Given the description of an element on the screen output the (x, y) to click on. 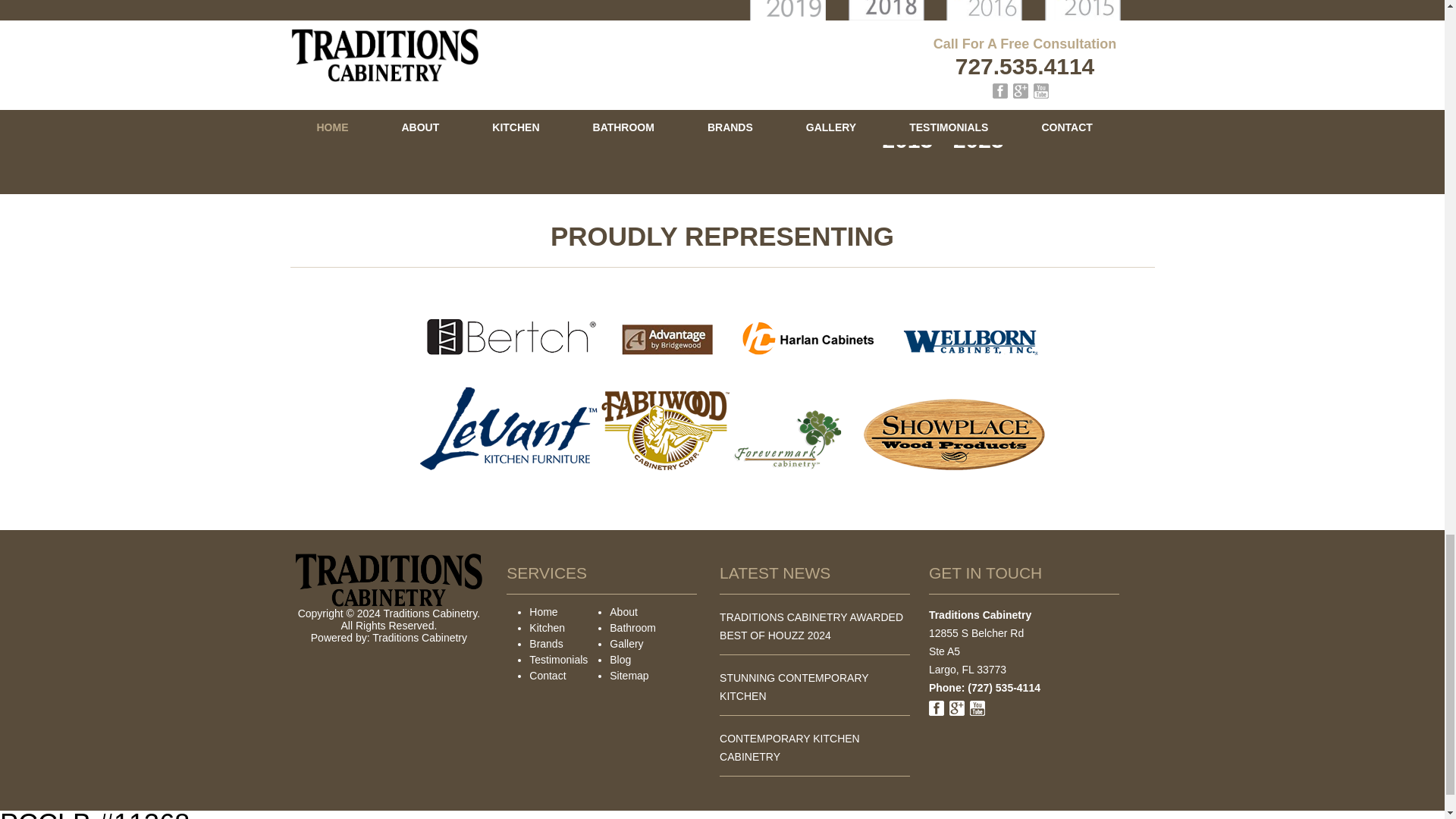
Blog (620, 659)
TRADITIONS CABINETRY AWARDED BEST OF HOUZZ 2024 (810, 625)
Traditions Cabinetry (419, 637)
STUNNING CONTEMPORARY KITCHEN (793, 686)
CONTEMPORARY KITCHEN CABINETRY (789, 747)
Gallery (626, 644)
Testimonials (558, 659)
Brands (545, 644)
Contact (547, 675)
Sitemap (628, 675)
About (623, 612)
Bathroom (633, 627)
Home (543, 612)
Kitchen (546, 627)
Traditions Cabinetry - Largo, FL (419, 637)
